Given the description of an element on the screen output the (x, y) to click on. 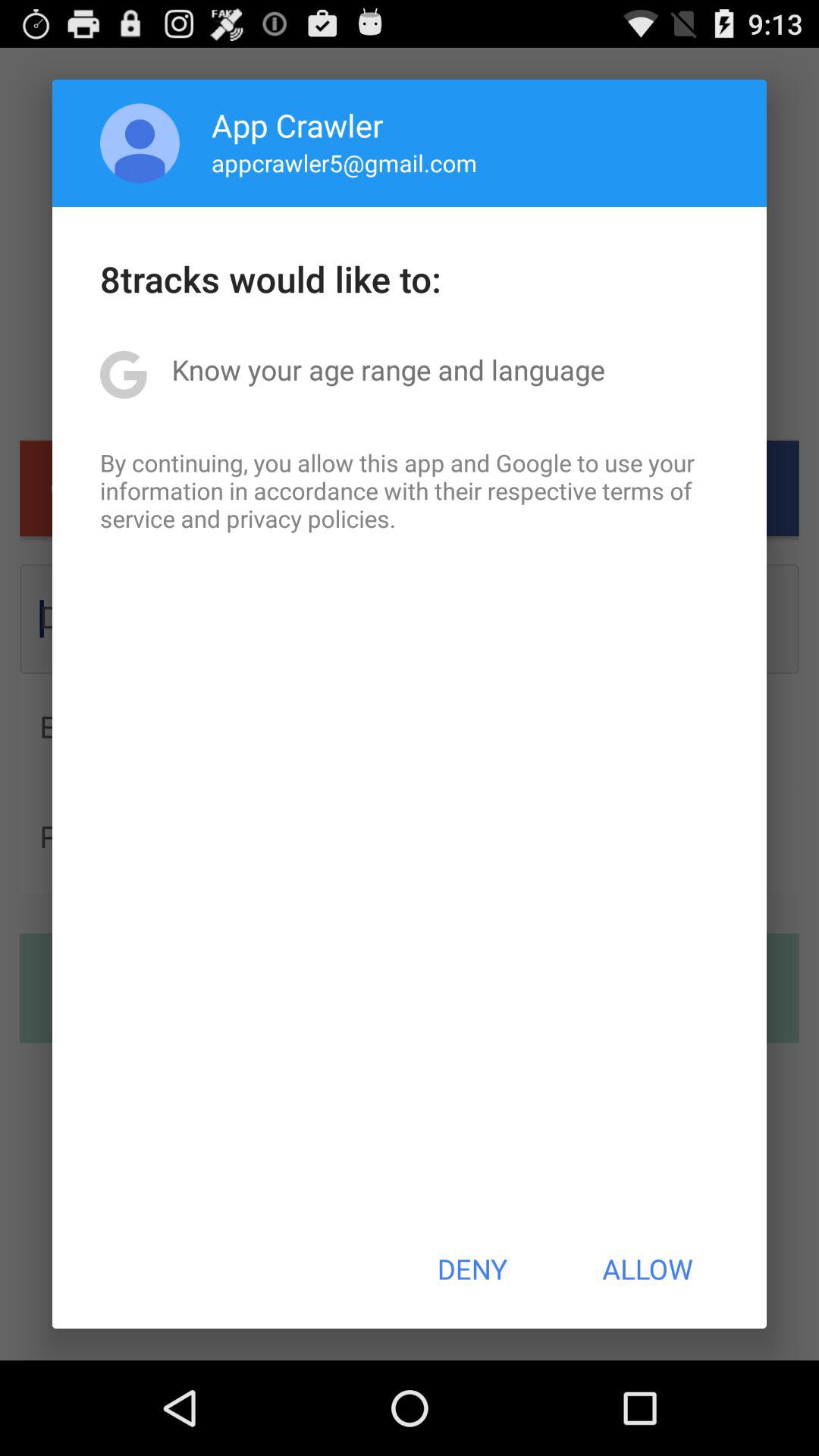
select the app next to the app crawler icon (139, 143)
